Given the description of an element on the screen output the (x, y) to click on. 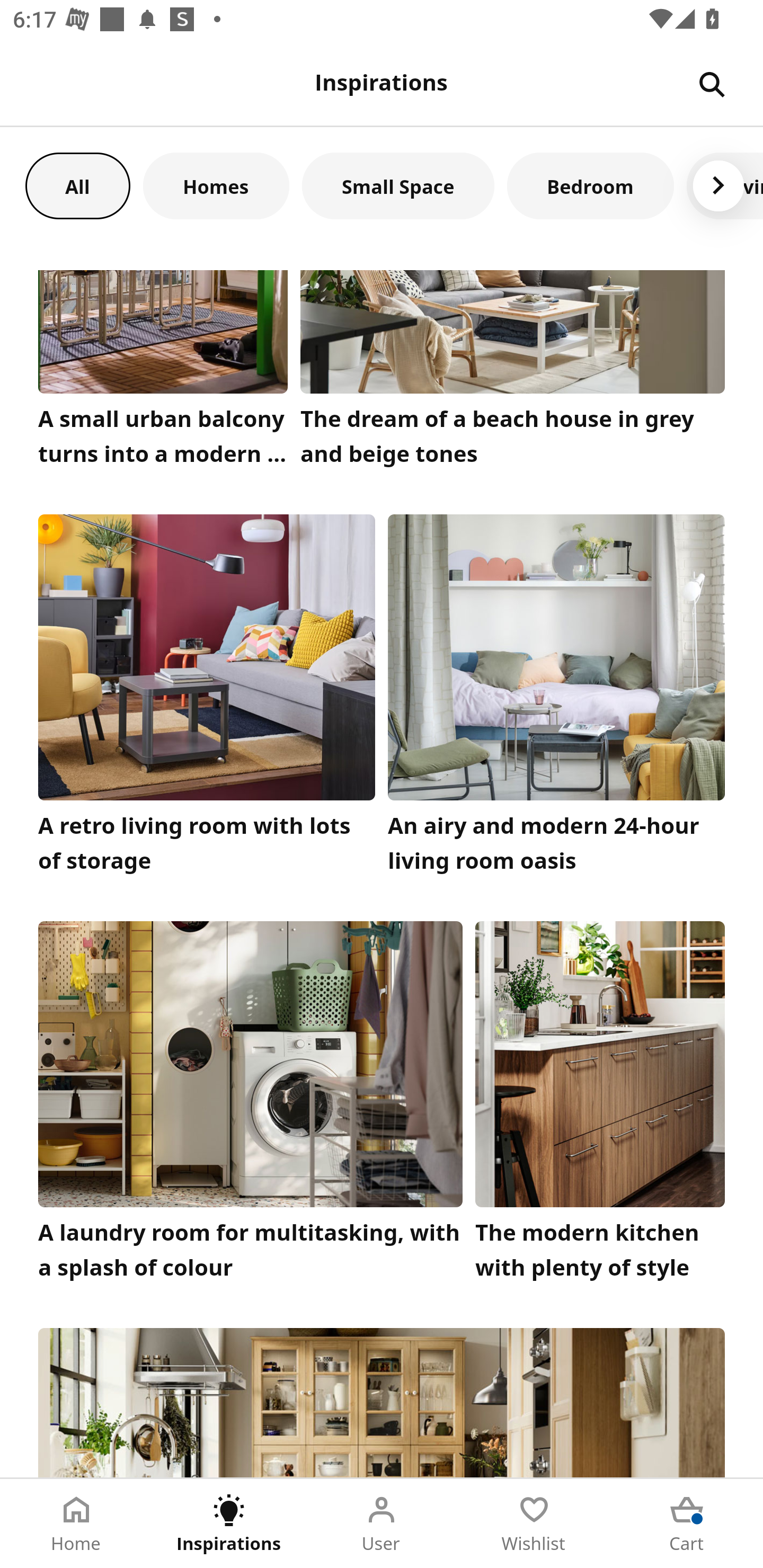
All (77, 185)
Homes (216, 185)
Small Space (398, 185)
Bedroom (590, 185)
The dream of a beach house in grey and beige tones (512, 372)
A retro living room with lots of storage (206, 698)
An airy and modern 24-hour living room oasis (555, 698)
The modern kitchen with plenty of style (599, 1105)
Home
Tab 1 of 5 (76, 1522)
Inspirations
Tab 2 of 5 (228, 1522)
User
Tab 3 of 5 (381, 1522)
Wishlist
Tab 4 of 5 (533, 1522)
Cart
Tab 5 of 5 (686, 1522)
